Given the description of an element on the screen output the (x, y) to click on. 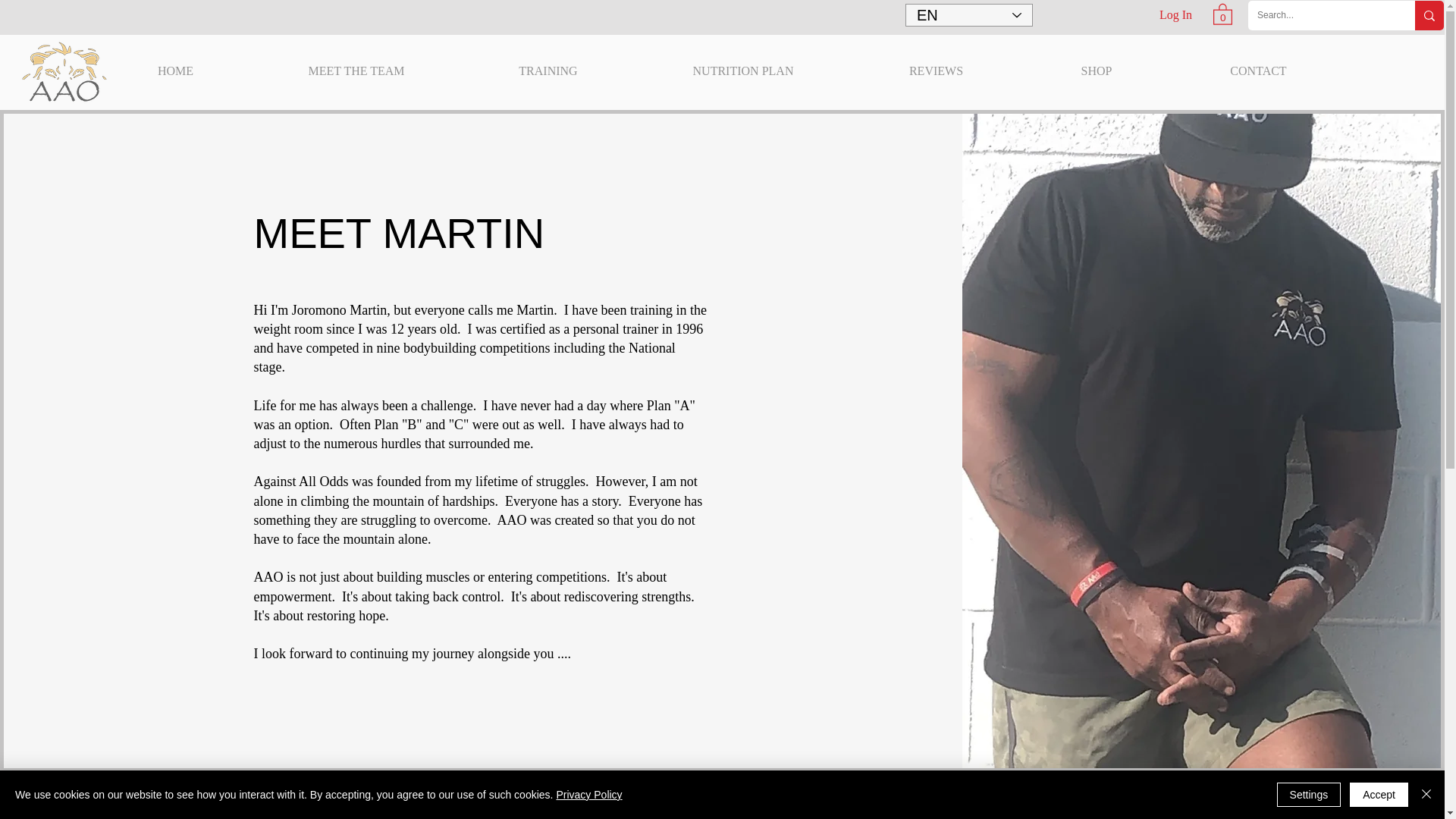
HOME (175, 71)
Privacy Policy (588, 794)
Accept (1378, 794)
TRAINING (547, 71)
NUTRITION PLAN (742, 71)
REVIEWS (936, 71)
Log In (1175, 14)
Settings (1308, 794)
CONTACT (1258, 71)
